Given the description of an element on the screen output the (x, y) to click on. 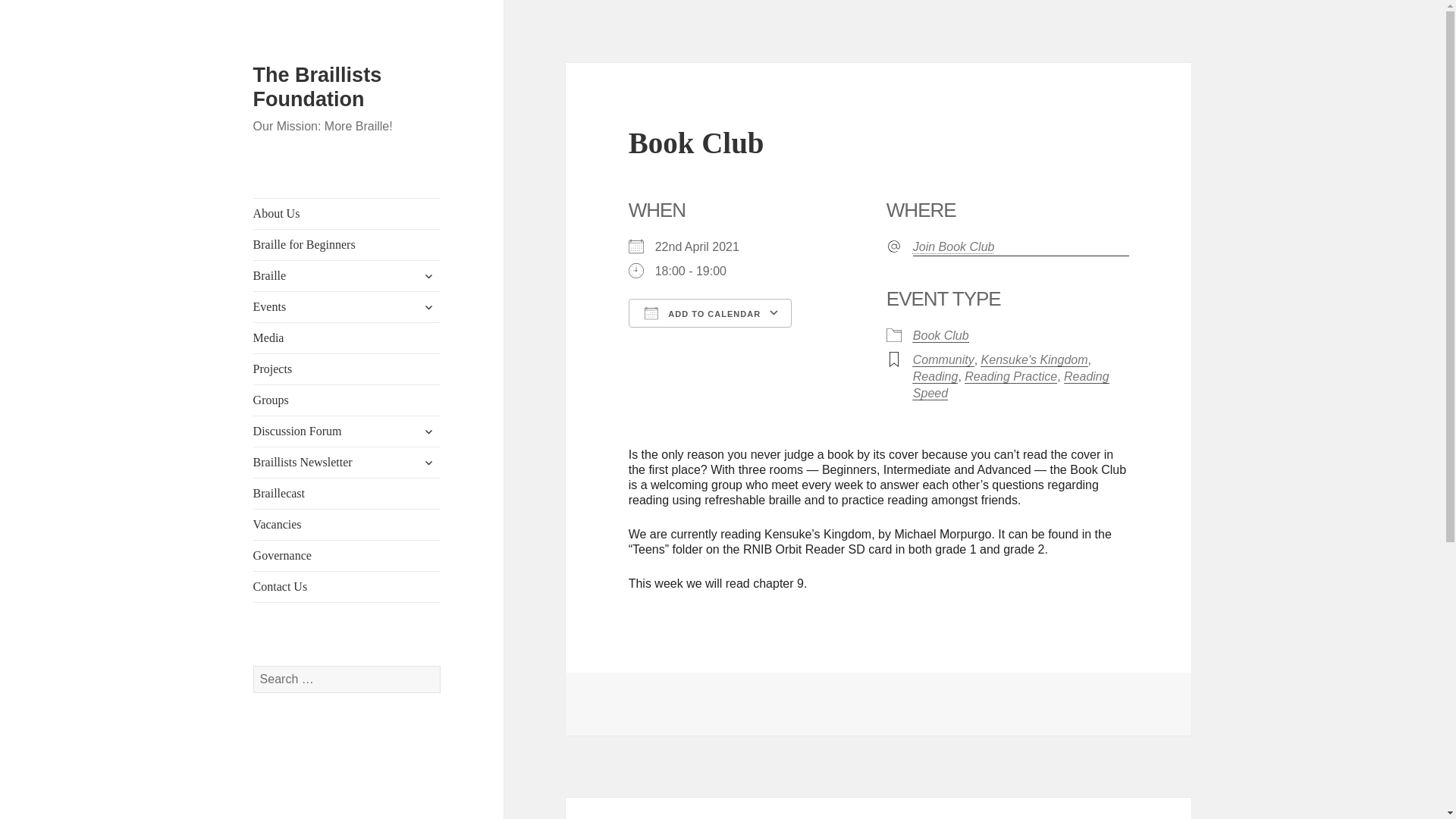
Braillists Newsletter (347, 462)
Discussion Forum (347, 431)
Join Book Club (1020, 247)
expand child menu (428, 431)
Vacancies (347, 524)
Governance (347, 555)
Media (347, 337)
expand child menu (428, 275)
Braille for Beginners (347, 245)
The Braillists Foundation (317, 86)
Braillecast (347, 493)
Events (347, 306)
ADD TO CALENDAR (710, 312)
expand child menu (428, 306)
